Given the description of an element on the screen output the (x, y) to click on. 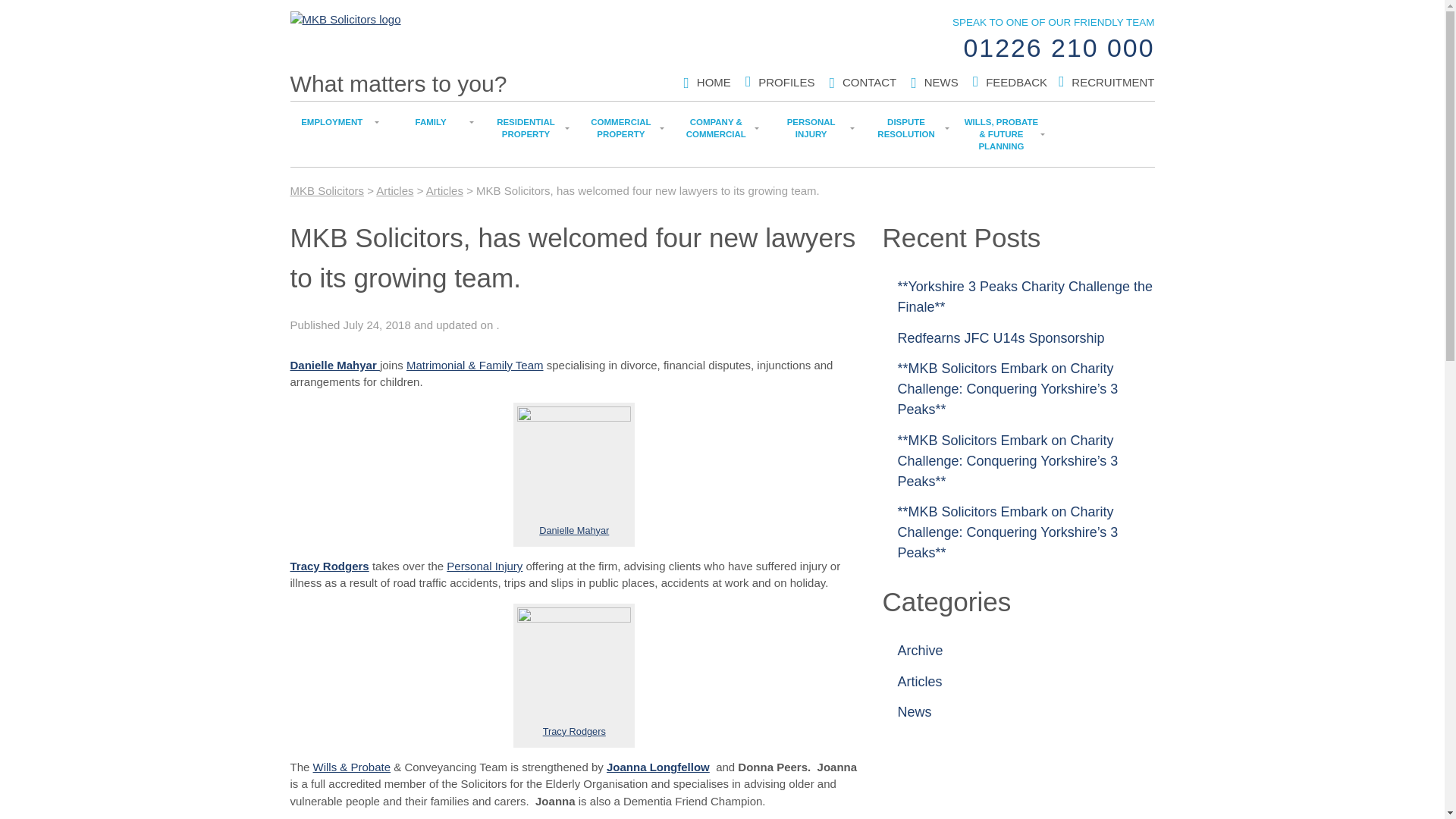
NEWS (941, 81)
FEEDBACK (1015, 81)
PROFILES (785, 81)
HOME (713, 81)
RECRUITMENT (870, 82)
Go to the Articles Category archives. (1112, 81)
CONTACT (444, 190)
Go to MKB Solicitors. (869, 81)
EMPLOYMENT (326, 190)
